Given the description of an element on the screen output the (x, y) to click on. 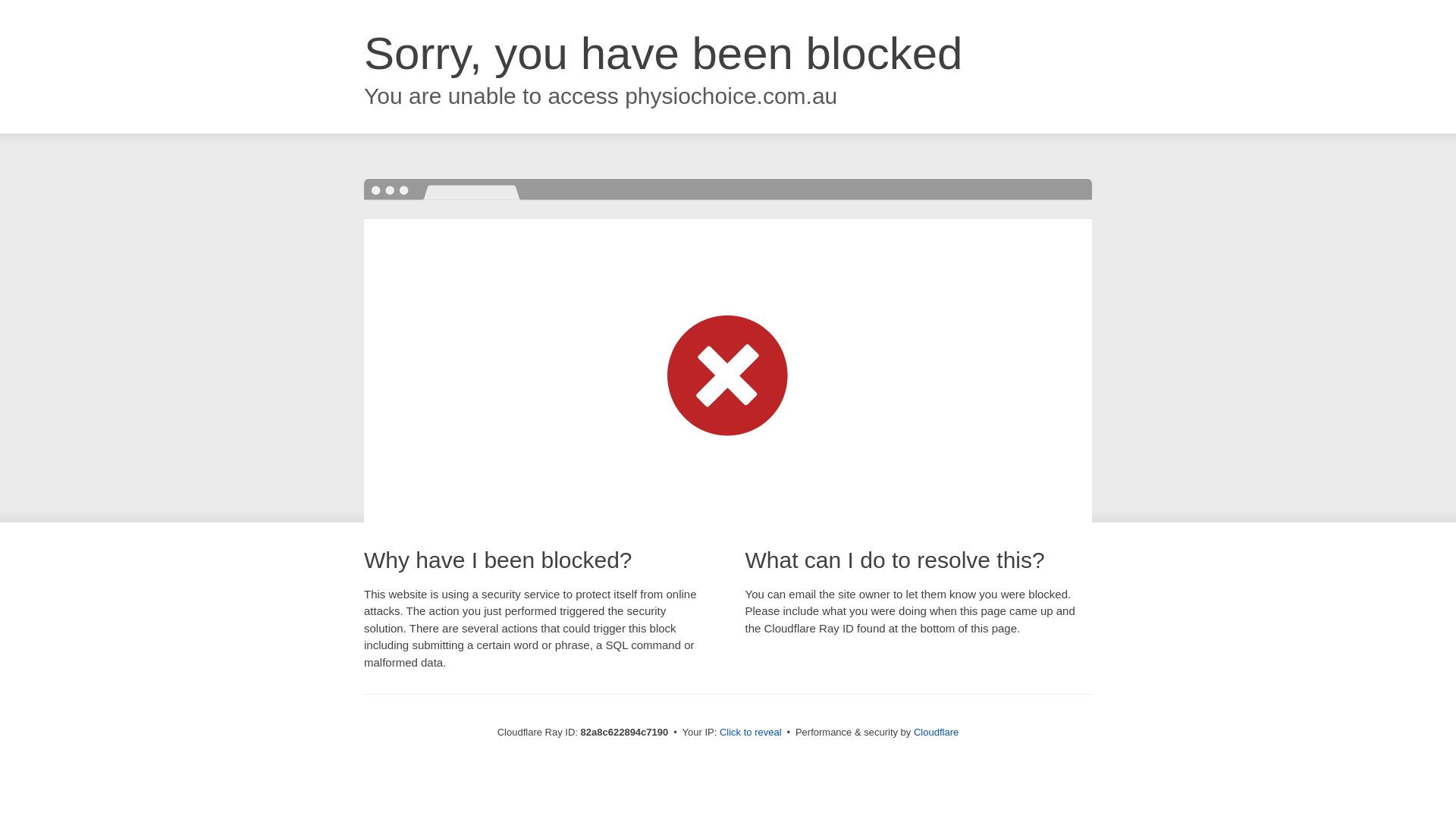
Cloudflare Element type: text (935, 731)
Click to reveal Element type: text (750, 732)
